Given the description of an element on the screen output the (x, y) to click on. 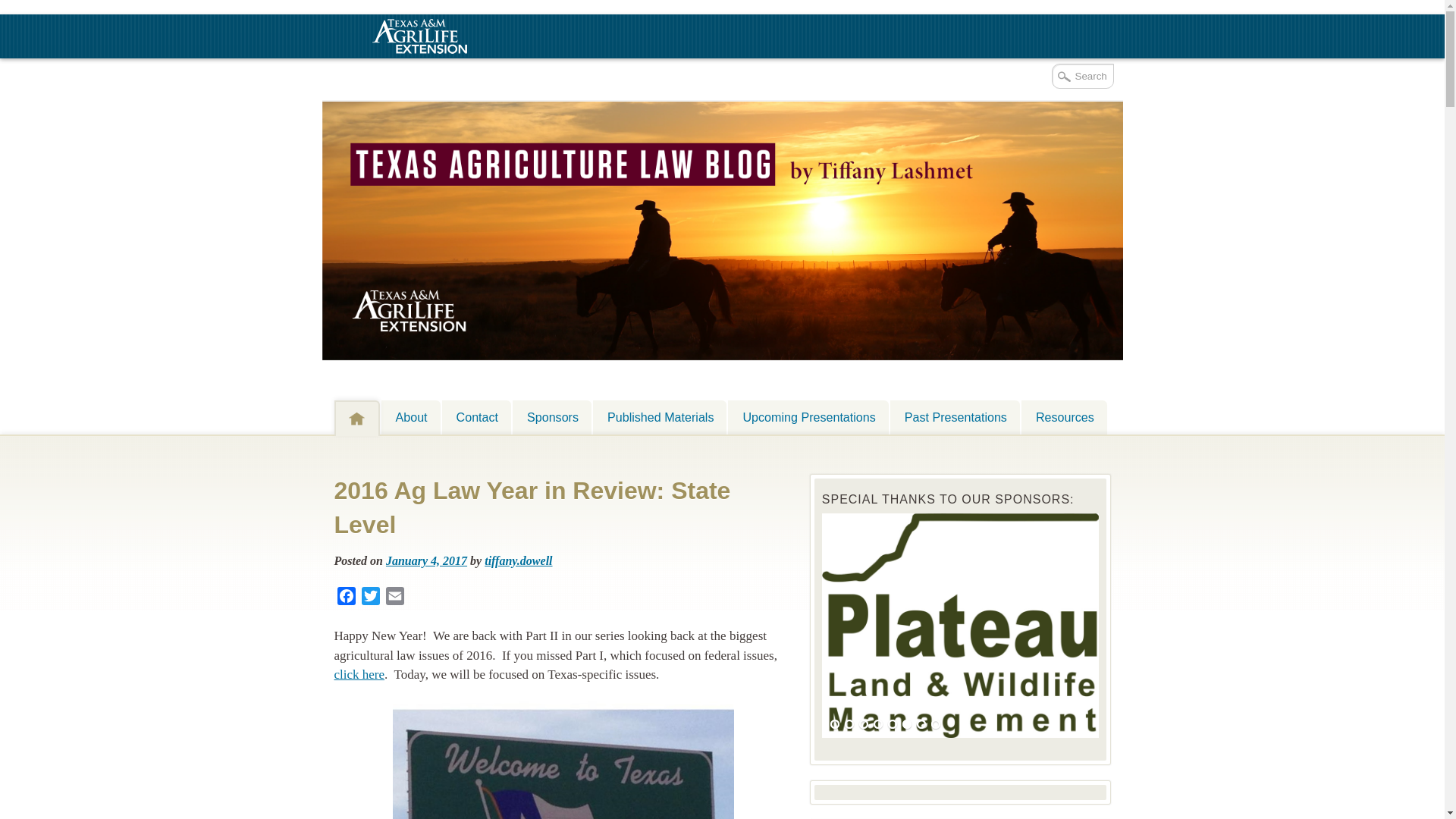
Resources (1064, 416)
tiffany.dowell (517, 560)
home (355, 418)
Twitter (369, 598)
Sponsors (551, 416)
Email (393, 598)
12:02 pm (426, 560)
Past Presentations (954, 416)
Search (1082, 75)
Published Materials (659, 416)
Go (13, 7)
Email (393, 598)
Upcoming Presentations (808, 416)
click here (358, 674)
Twitter (369, 598)
